Given the description of an element on the screen output the (x, y) to click on. 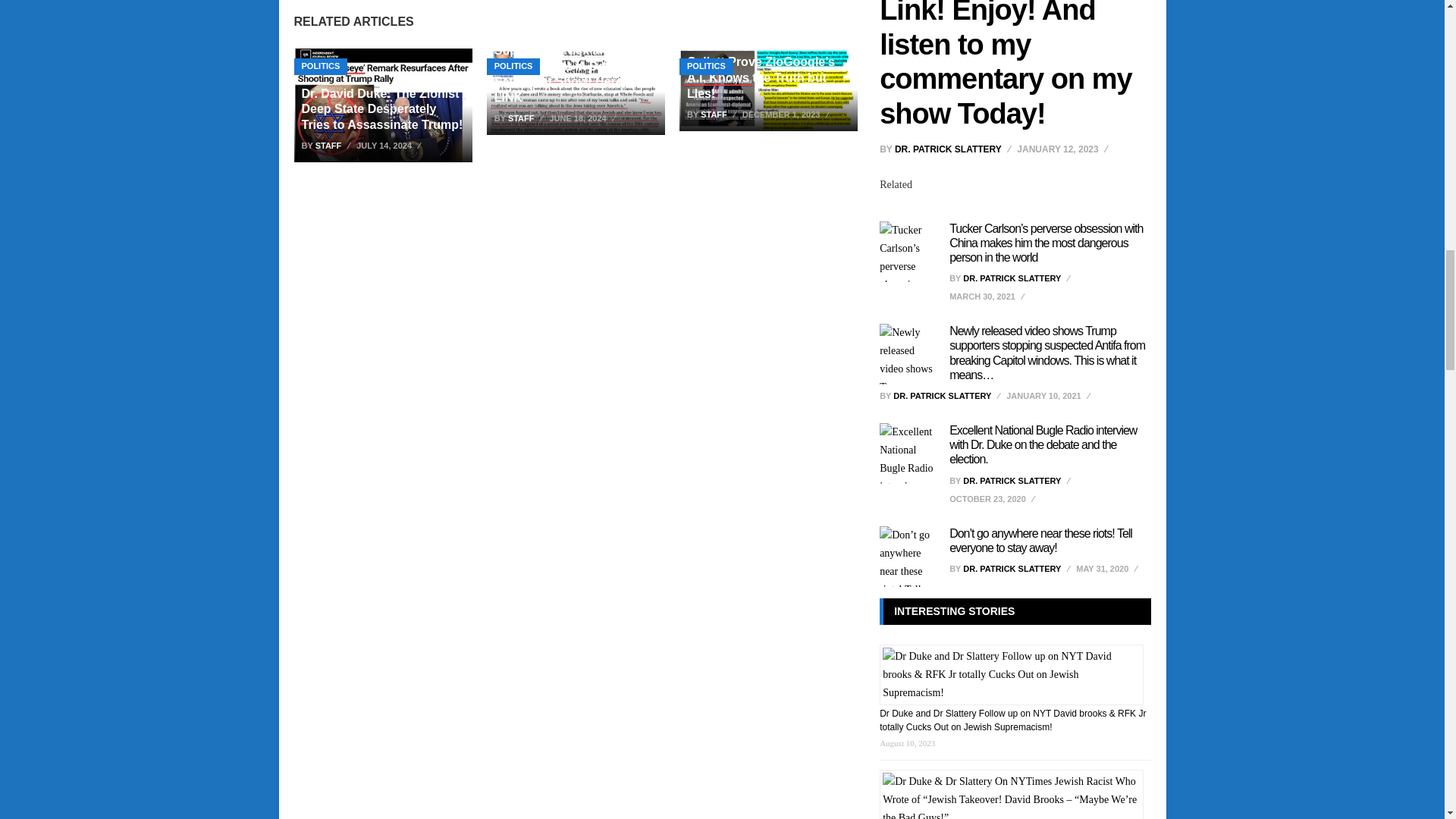
Friday, December 1, 2023, 1:23 pm (787, 114)
Friday, October 23, 2020, 6:19 pm (994, 498)
Tuesday, March 30, 2021, 11:04 pm (988, 296)
Tuesday, June 18, 2024, 8:04 pm (583, 117)
Thursday, January 12, 2023, 12:01 pm (1063, 149)
Sunday, July 14, 2024, 8:47 am (390, 145)
Sunday, January 10, 2021, 12:23 pm (1049, 395)
